Given the description of an element on the screen output the (x, y) to click on. 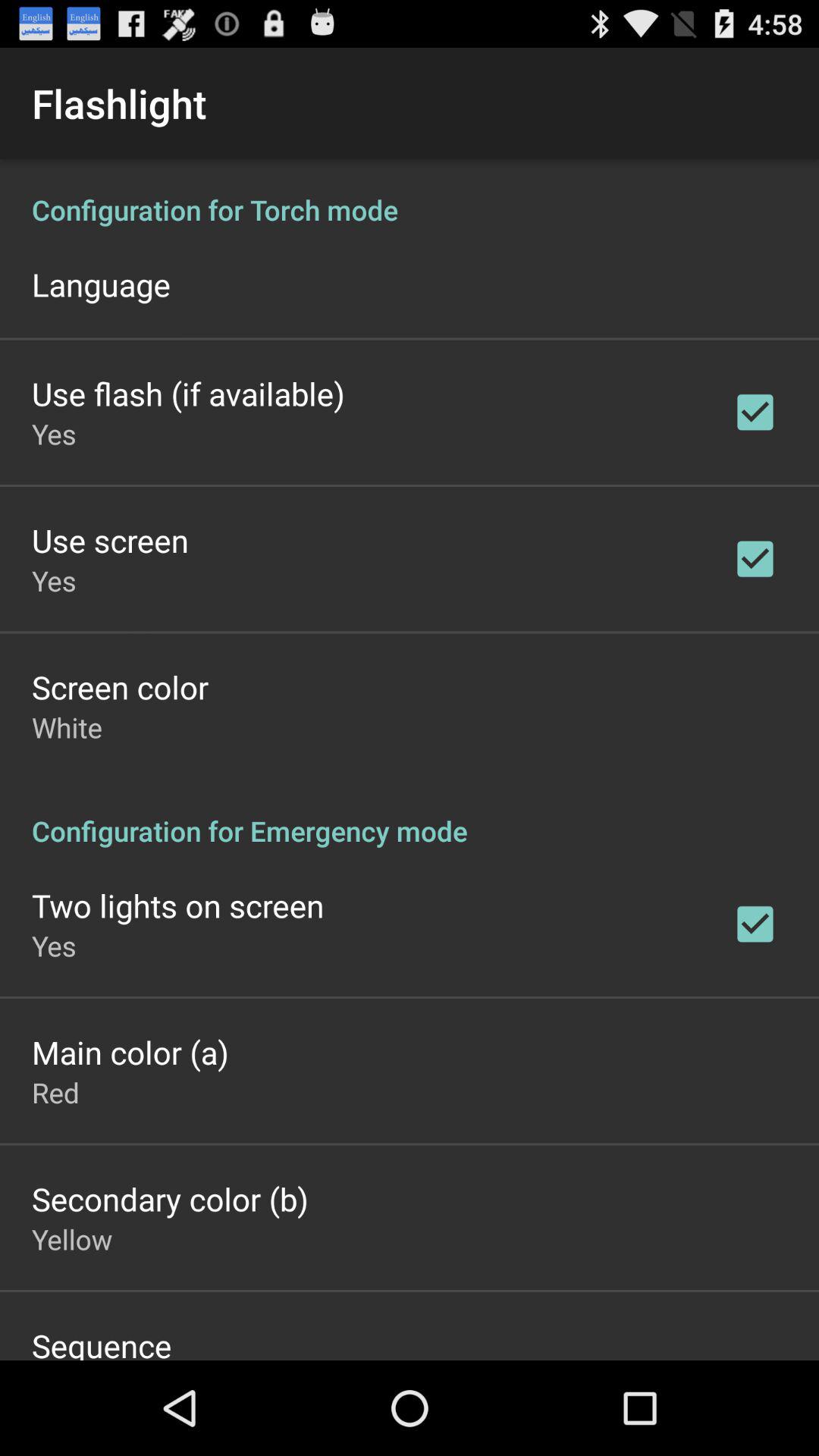
flash on (409, 759)
